Given the description of an element on the screen output the (x, y) to click on. 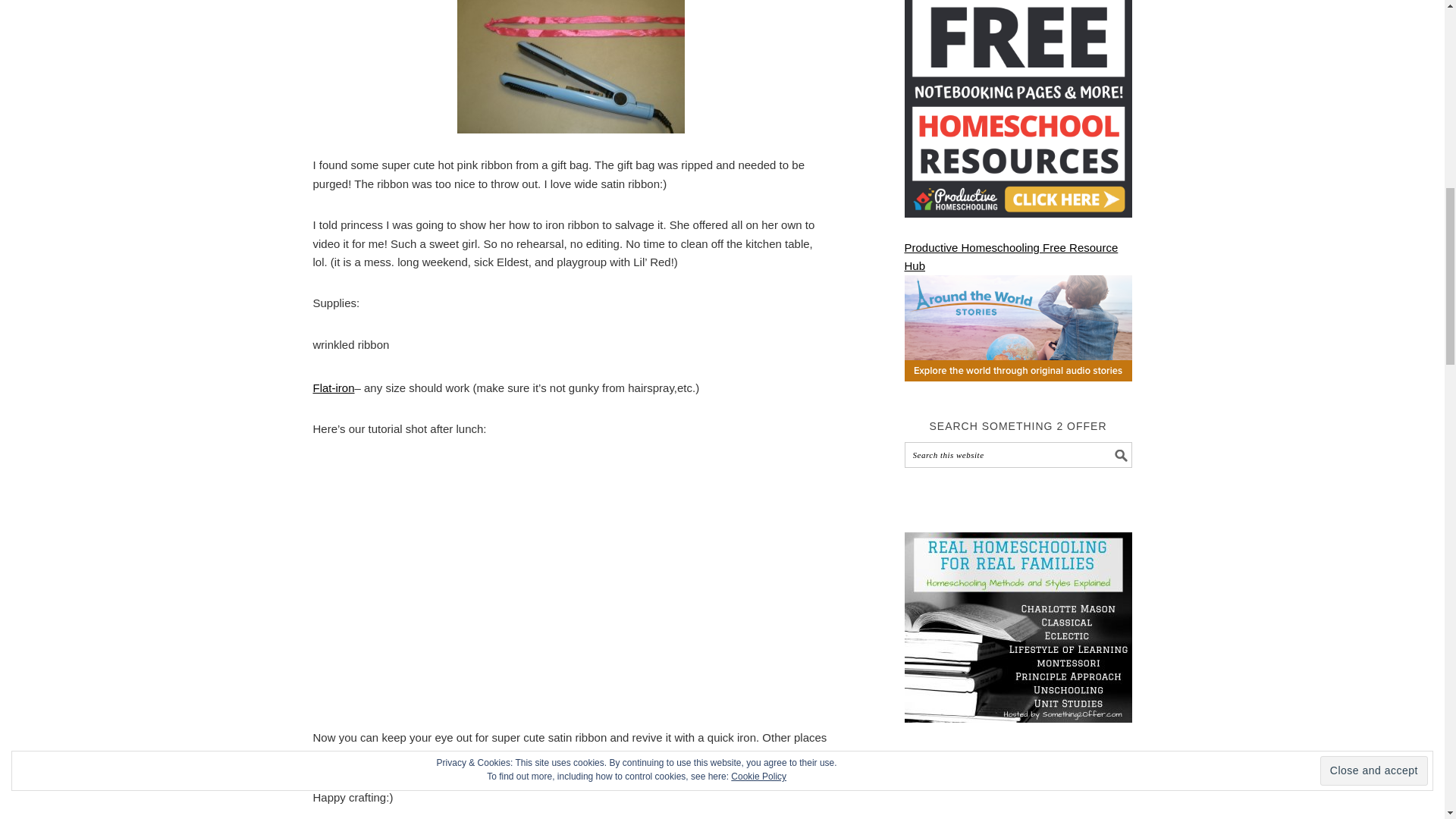
Satin Ribbon iron tutorial (570, 66)
